Given the description of an element on the screen output the (x, y) to click on. 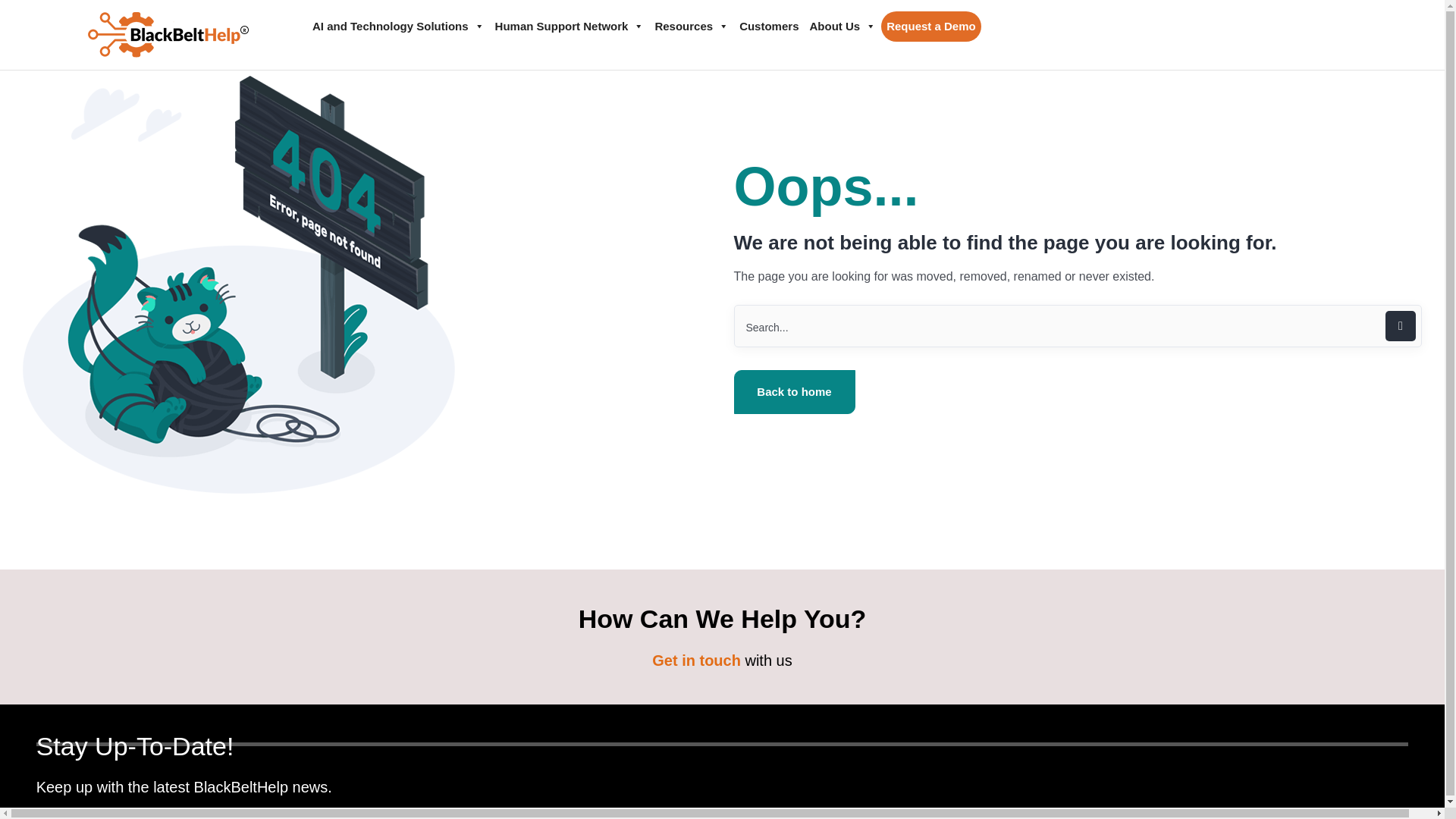
Back to home (794, 392)
AI and Technology Solutions (398, 26)
About Us (841, 26)
Search (1077, 325)
Human Support Network (569, 26)
Get in touch (696, 660)
Request a Demo (930, 26)
Customers (768, 26)
Resources (691, 26)
